Given the description of an element on the screen output the (x, y) to click on. 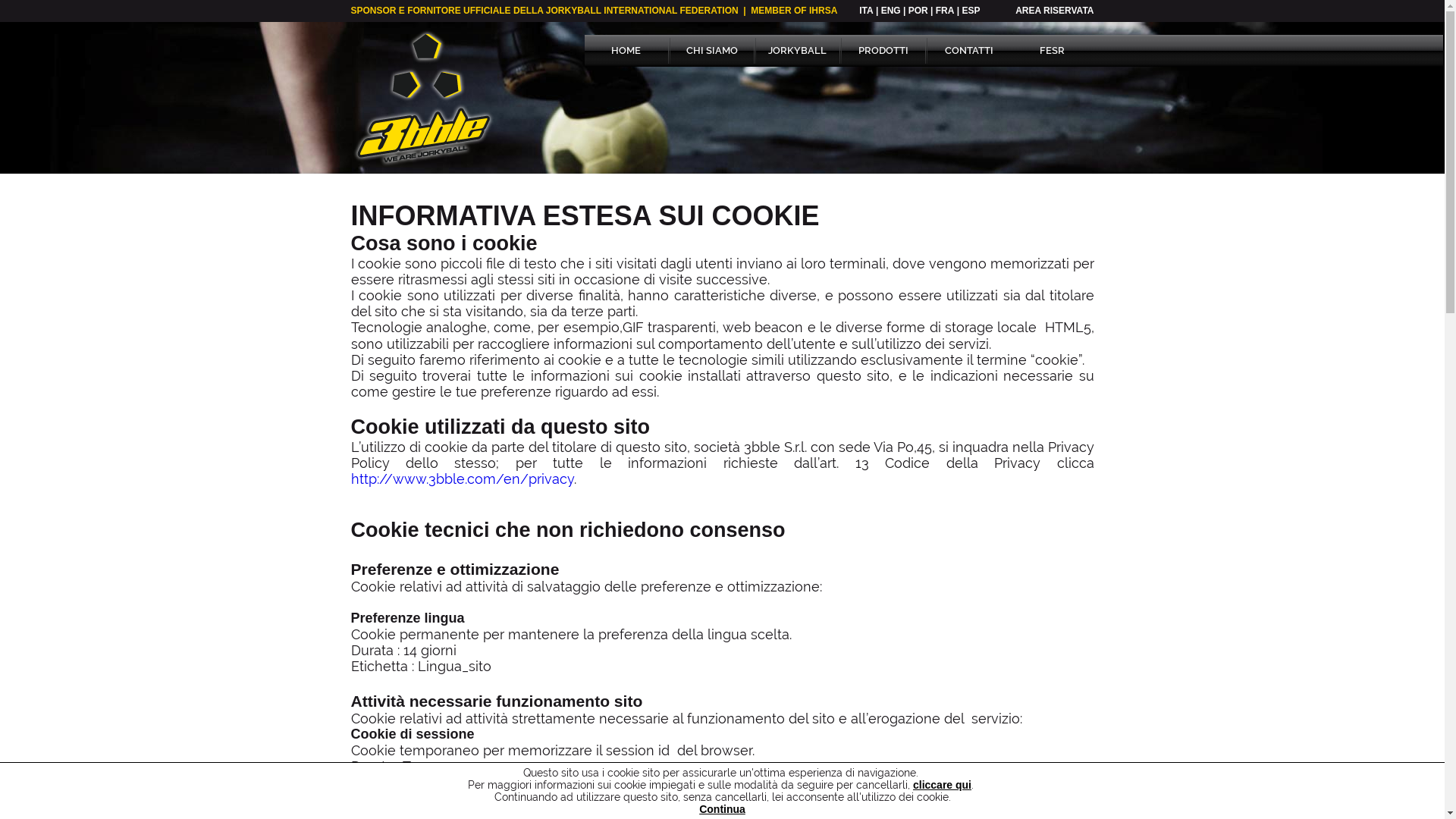
ESP Element type: text (970, 10)
http://www.3bble.com/en/privacy Element type: text (461, 478)
3bble | We are Jorkyball Element type: hover (422, 97)
ITA Element type: text (865, 10)
POR Element type: text (918, 10)
FRA Element type: text (944, 10)
MEMBER OF IHRSA Element type: text (793, 10)
AREA RISERVATA Element type: text (1054, 10)
ENG Element type: text (890, 10)
CHI SIAMO Element type: text (711, 50)
JORKYBALL Element type: text (796, 50)
FESR Element type: text (1051, 50)
PRODOTTI Element type: text (883, 50)
Continua Element type: text (722, 809)
cliccare qui Element type: text (942, 784)
HOME Element type: text (625, 50)
CONTATTI Element type: text (968, 50)
